Given the description of an element on the screen output the (x, y) to click on. 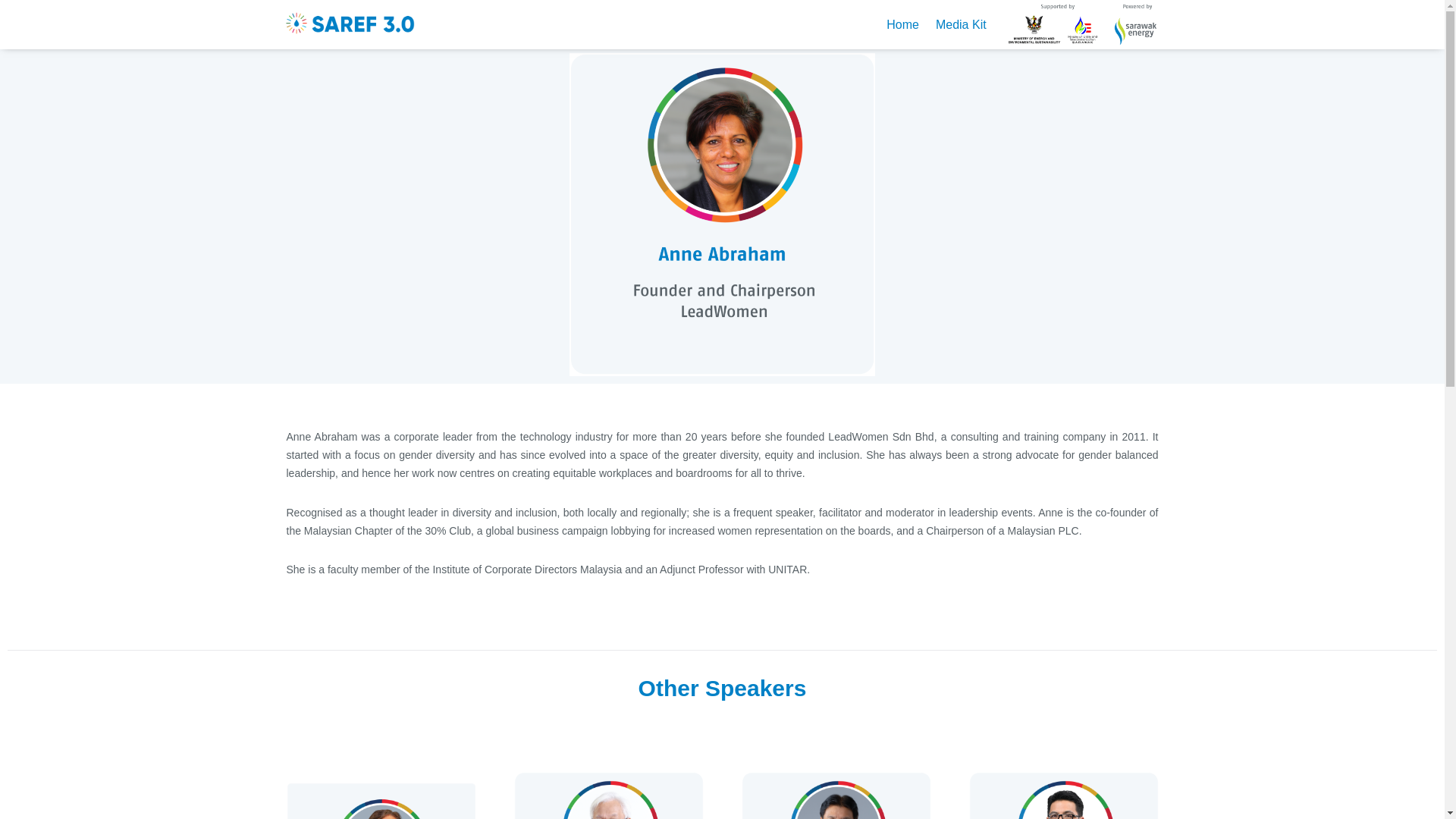
Home (902, 24)
Media Kit (960, 24)
